Given the description of an element on the screen output the (x, y) to click on. 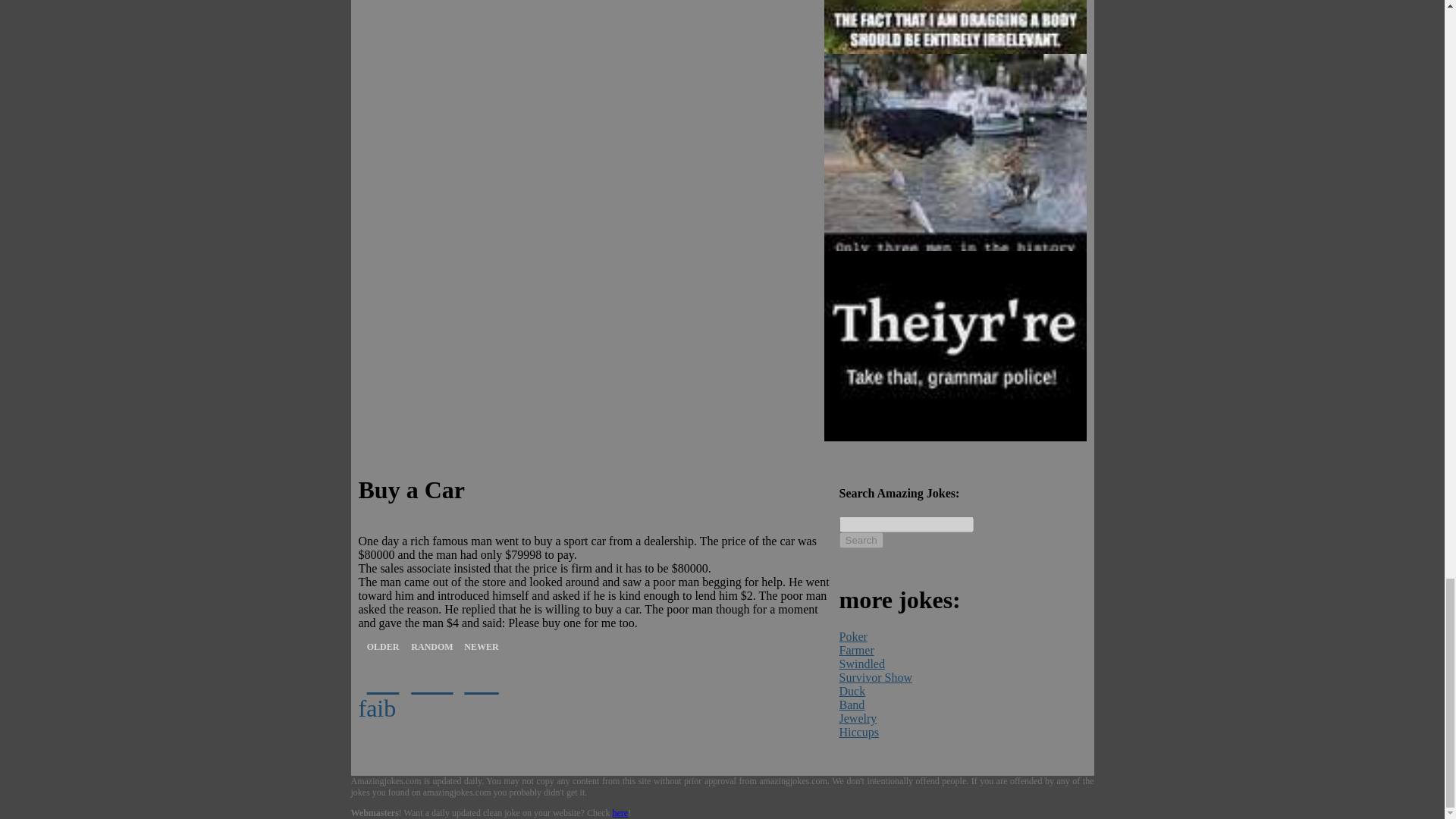
OLDER (382, 682)
RANDOM (432, 682)
here (620, 812)
NEWER (481, 682)
